Given the description of an element on the screen output the (x, y) to click on. 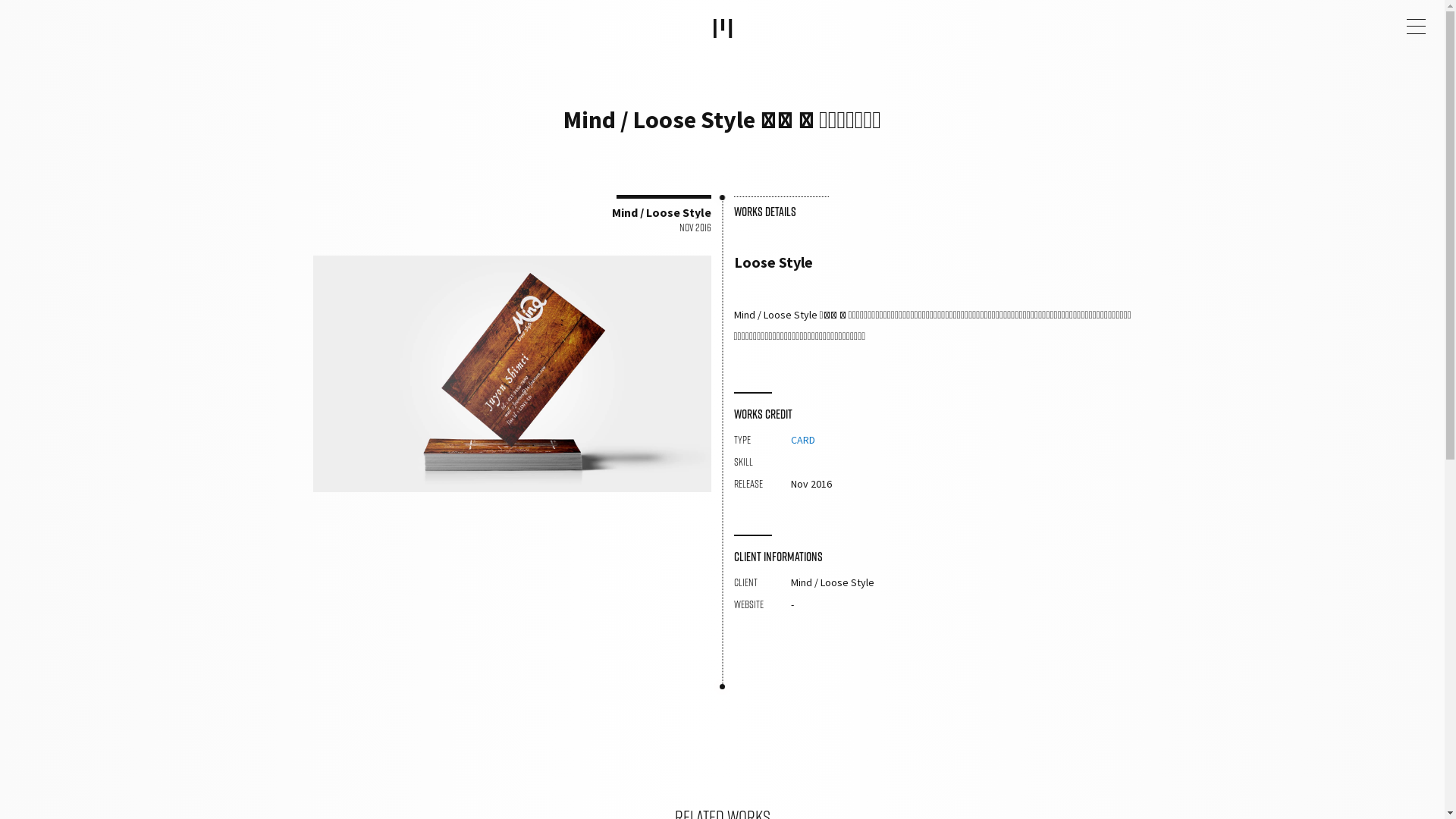
CARD Element type: text (802, 439)
